Given the description of an element on the screen output the (x, y) to click on. 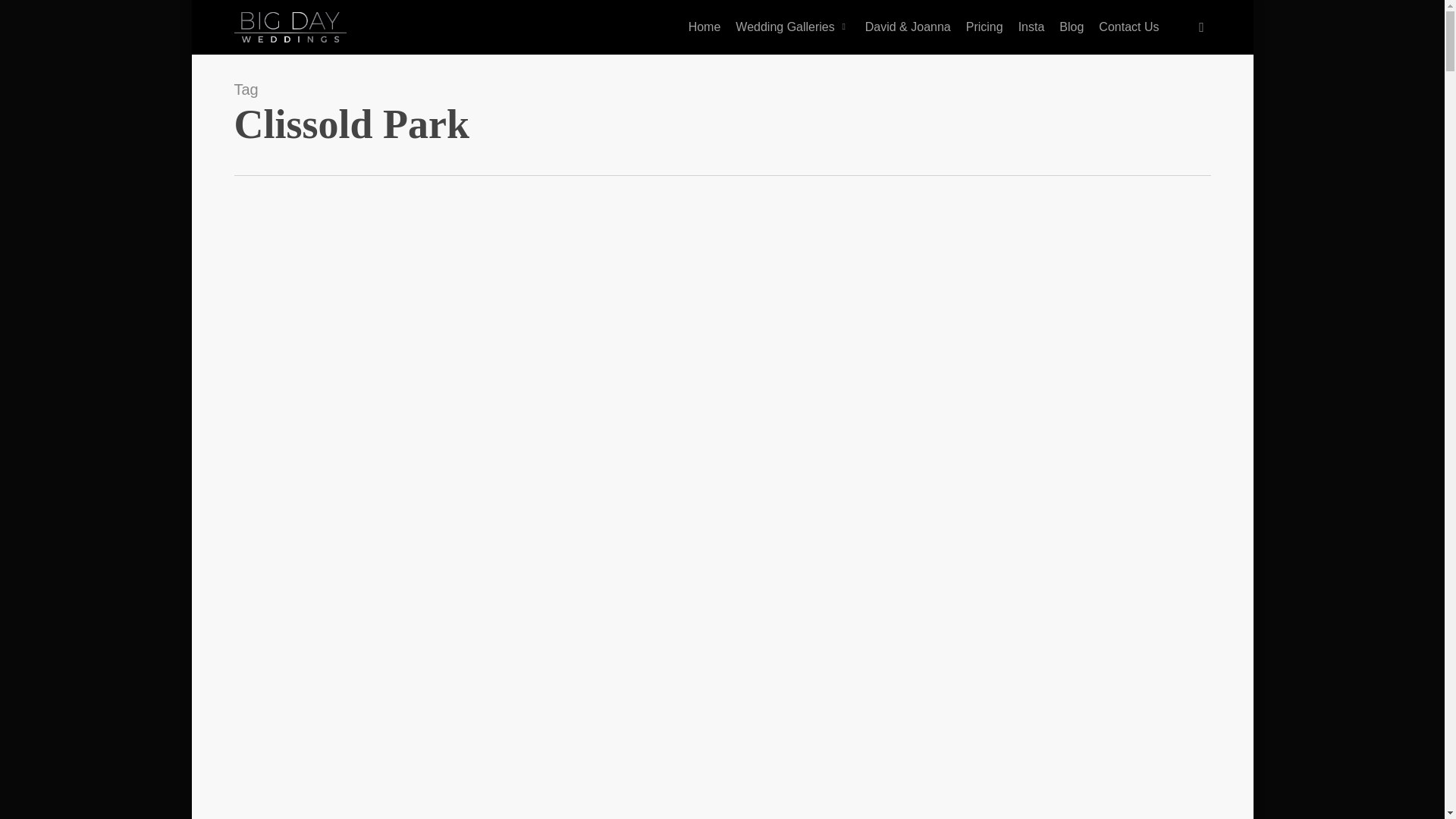
Pricing (984, 27)
Insta (1031, 27)
Contact Us (1128, 27)
Blog (1070, 27)
Home (705, 27)
search (1200, 27)
Wedding Galleries (792, 27)
